Given the description of an element on the screen output the (x, y) to click on. 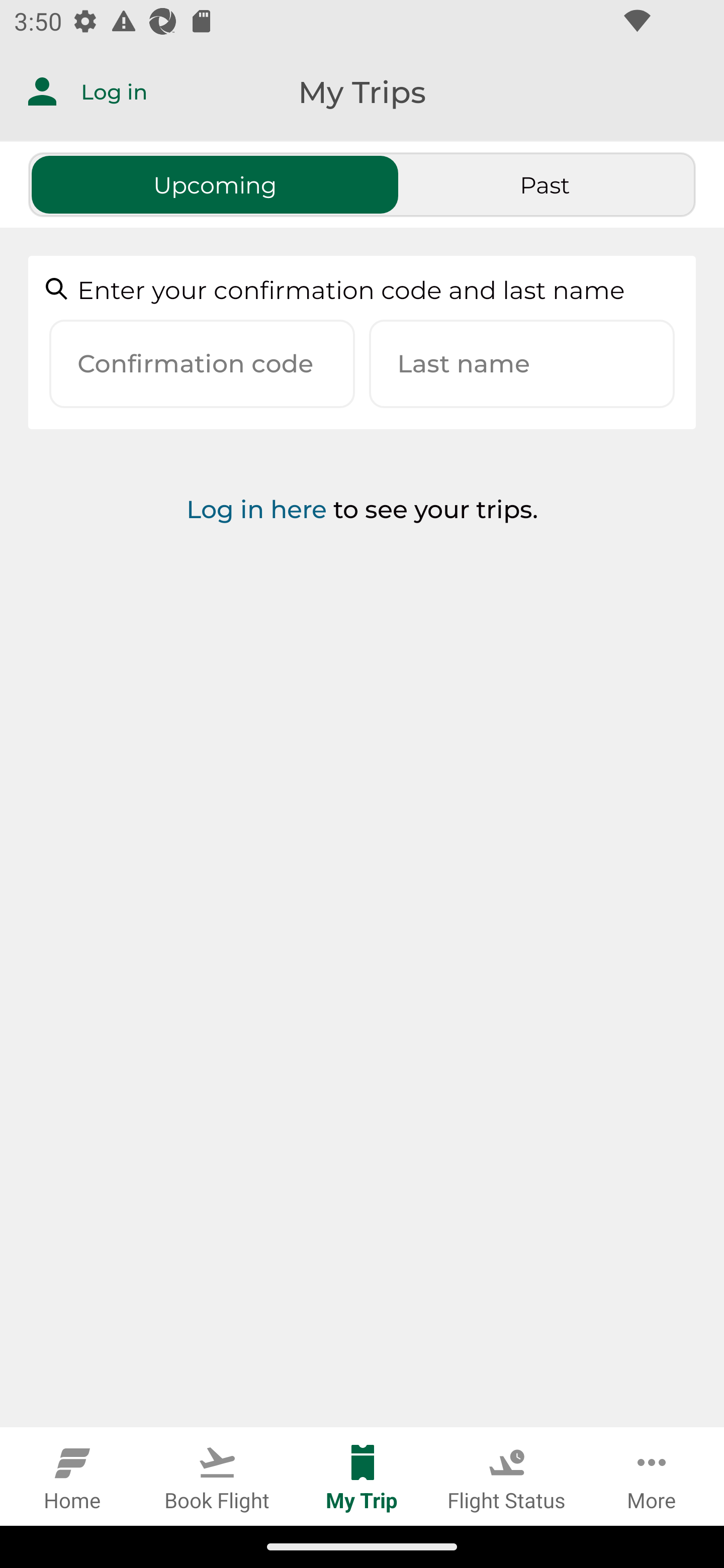
Log in (73, 91)
Upcoming (214, 184)
Past (545, 184)
Confirmation code (201, 363)
Last name (521, 363)
Log in here to see your trips. (362, 560)
Home (72, 1475)
Book Flight (216, 1475)
Flight Status (506, 1475)
More (651, 1475)
